Given the description of an element on the screen output the (x, y) to click on. 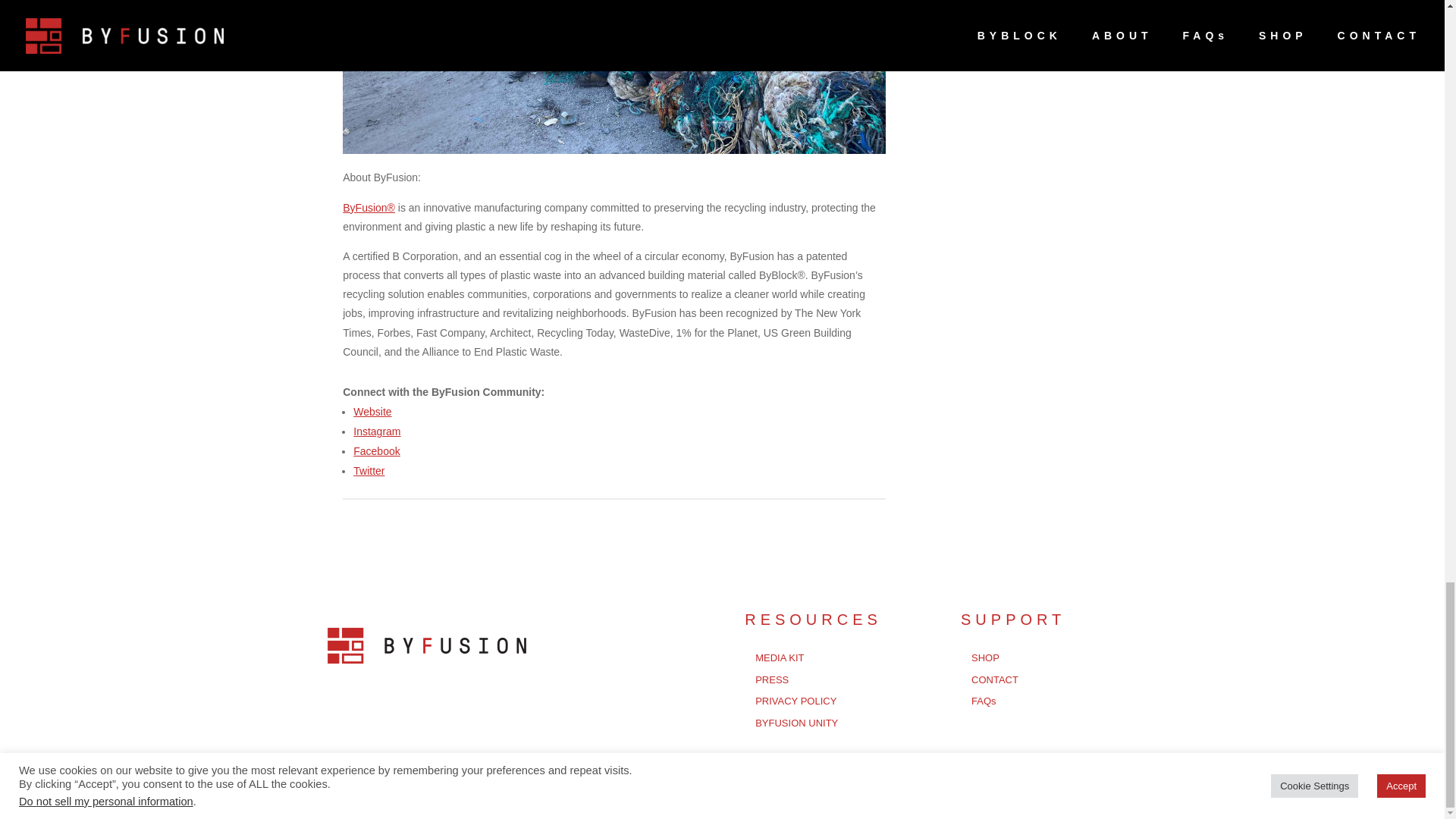
CONTACT (994, 679)
Facebook (375, 451)
PRIVACY POLICY (795, 700)
PRESS (772, 679)
MEDIA KIT (779, 657)
Website (372, 411)
BYFUSION UNITY (796, 722)
FAQs (983, 700)
Instagram (376, 431)
SHOP (984, 657)
Twitter (368, 470)
